Given the description of an element on the screen output the (x, y) to click on. 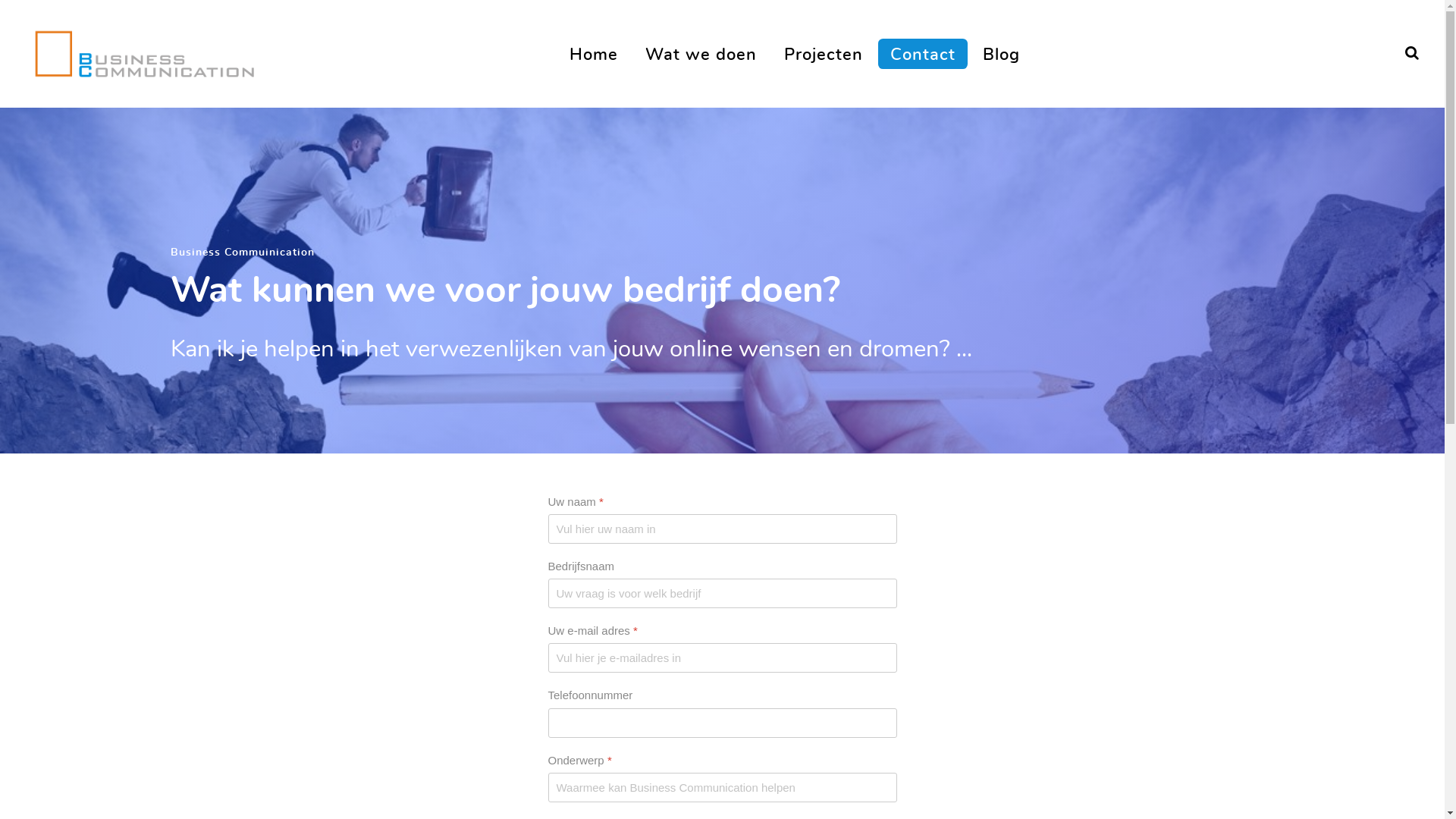
Contact Element type: text (922, 53)
Blog Element type: text (1001, 53)
Projecten Element type: text (823, 53)
Wat we doen Element type: text (700, 53)
Business Communication Element type: hover (144, 49)
Search Form Element type: hover (1411, 53)
Home Element type: text (593, 53)
